Given the description of an element on the screen output the (x, y) to click on. 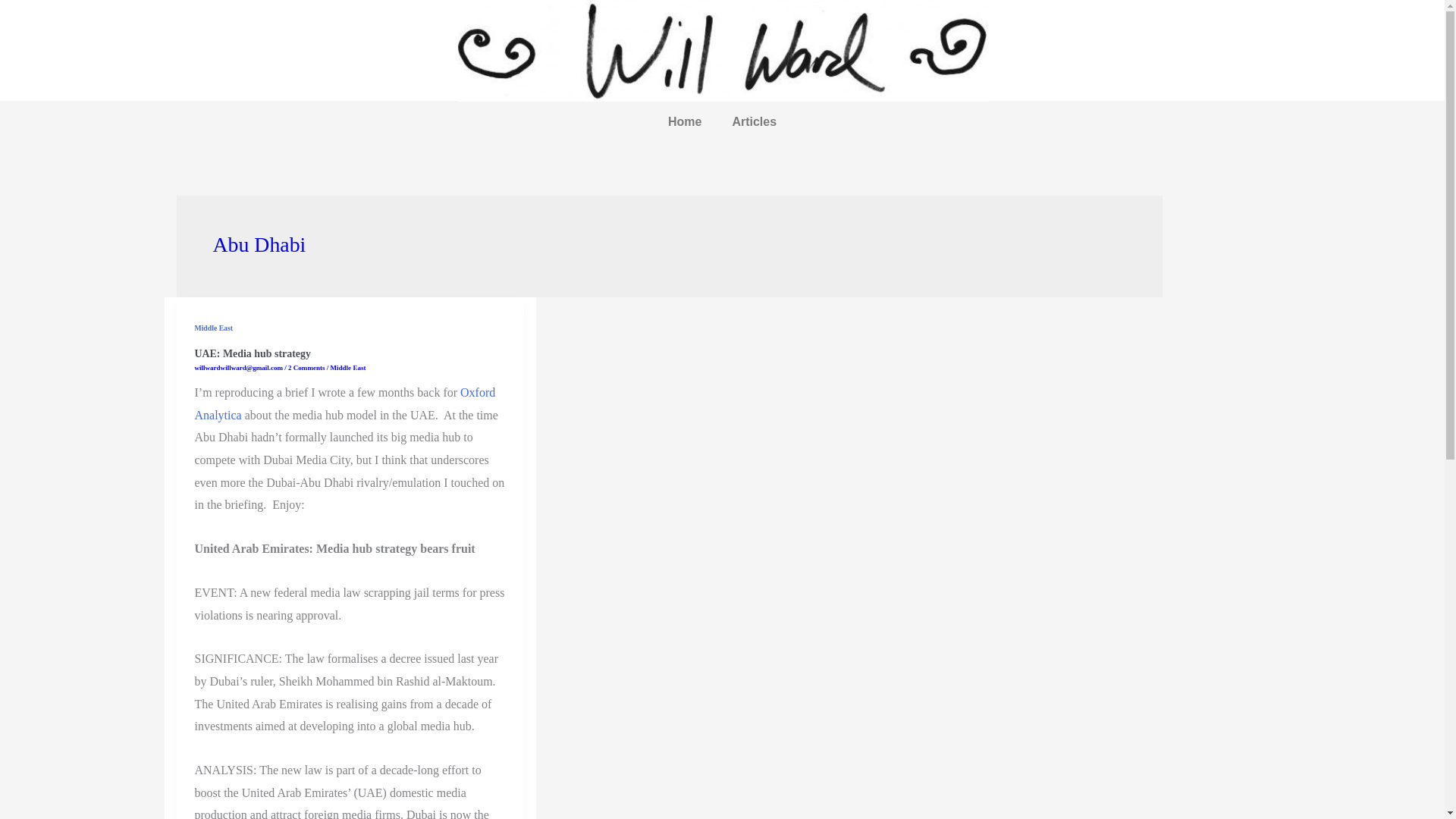
Middle East (212, 327)
Articles (754, 121)
Middle East (348, 367)
Oxford Analytica (344, 403)
2 Comments (306, 367)
Home (684, 121)
UAE: Media hub strategy (251, 353)
